Given the description of an element on the screen output the (x, y) to click on. 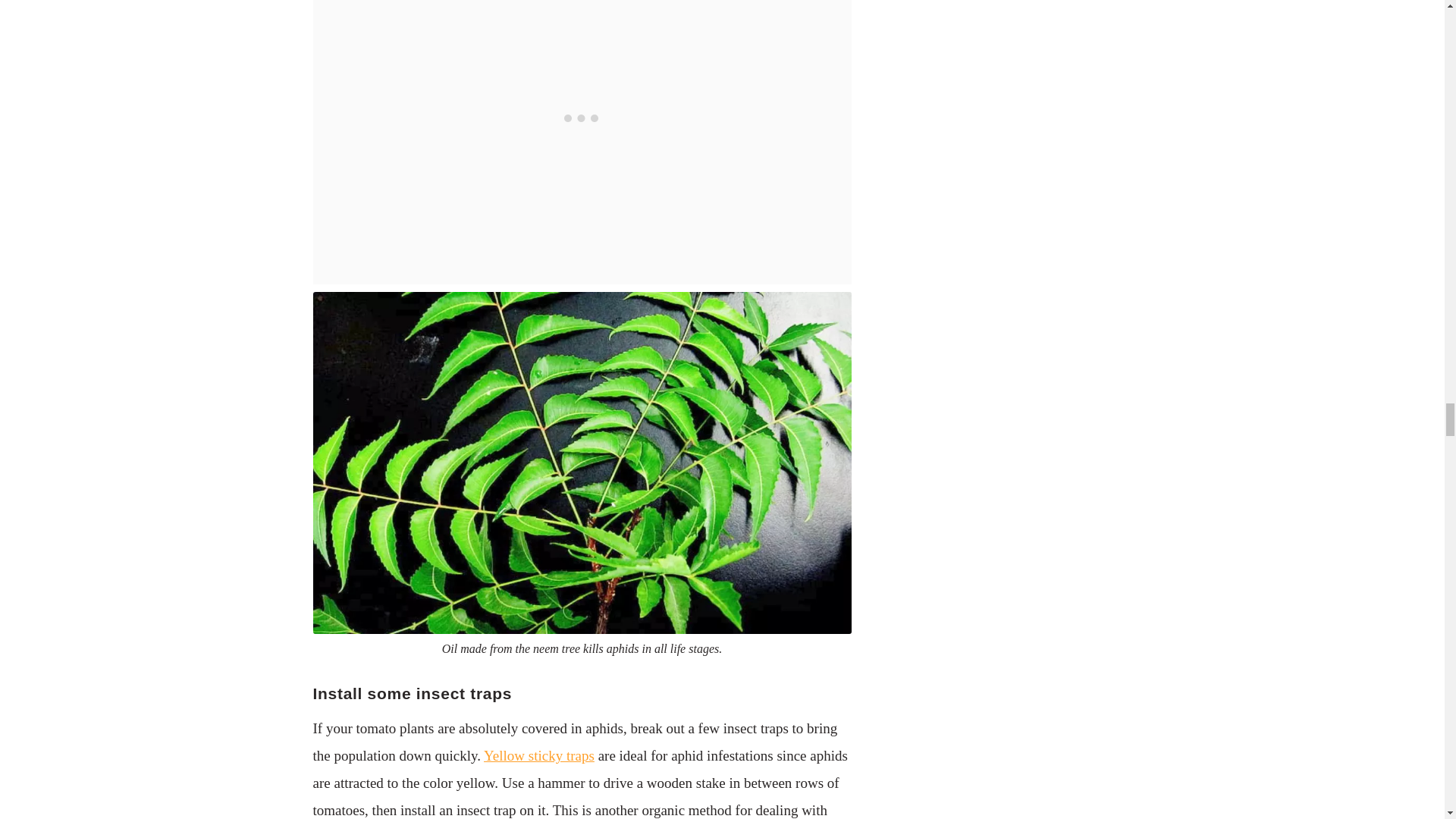
Yellow sticky traps (538, 755)
